Given the description of an element on the screen output the (x, y) to click on. 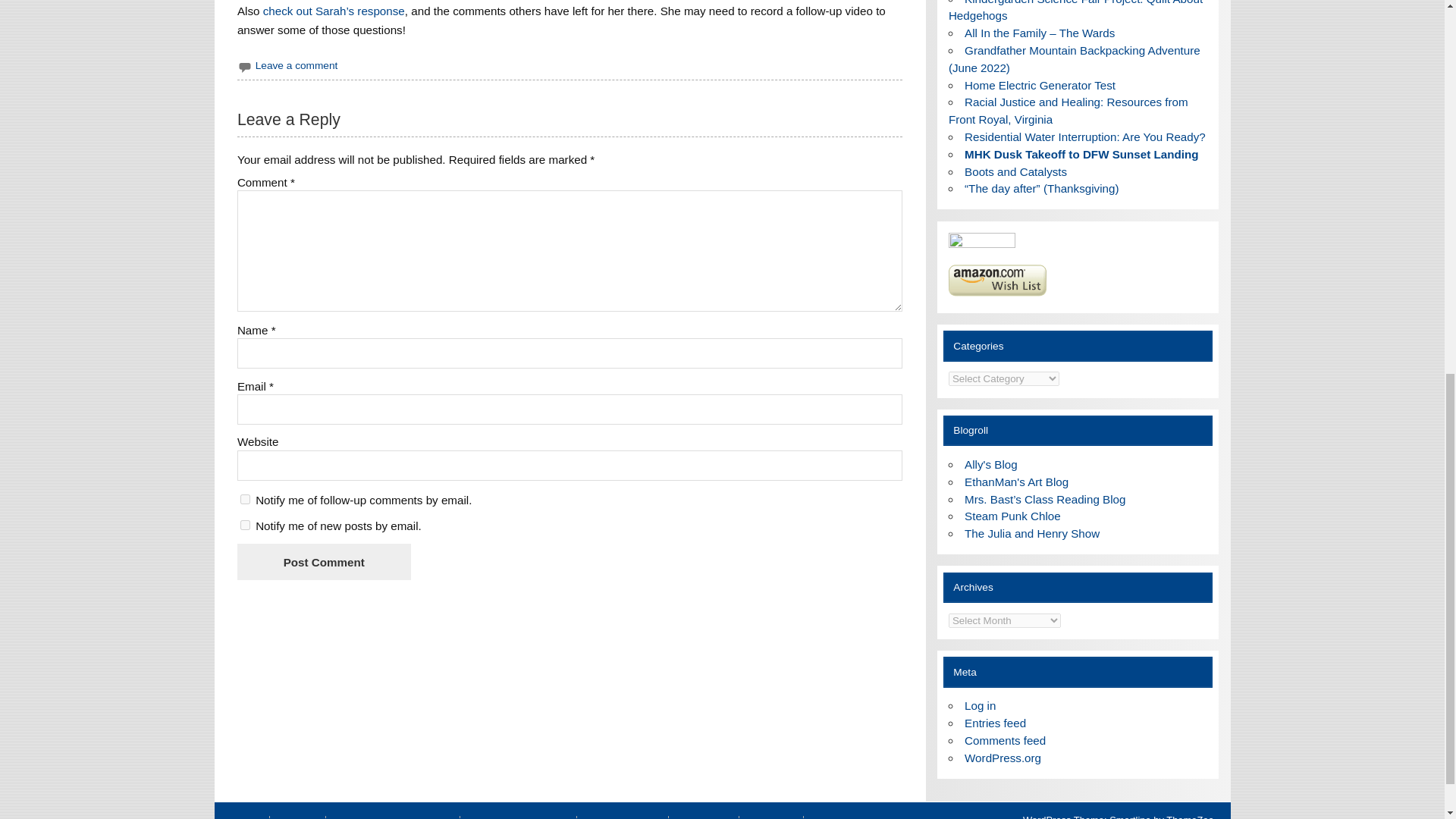
subscribe (245, 524)
Kindergarden Science Fair Project: Quilt About Hedgehogs (1075, 11)
Post Comment (323, 561)
subscribe (245, 499)
in Holland, Michigan (1044, 499)
Post Comment (323, 561)
Leave a comment (296, 65)
